Given the description of an element on the screen output the (x, y) to click on. 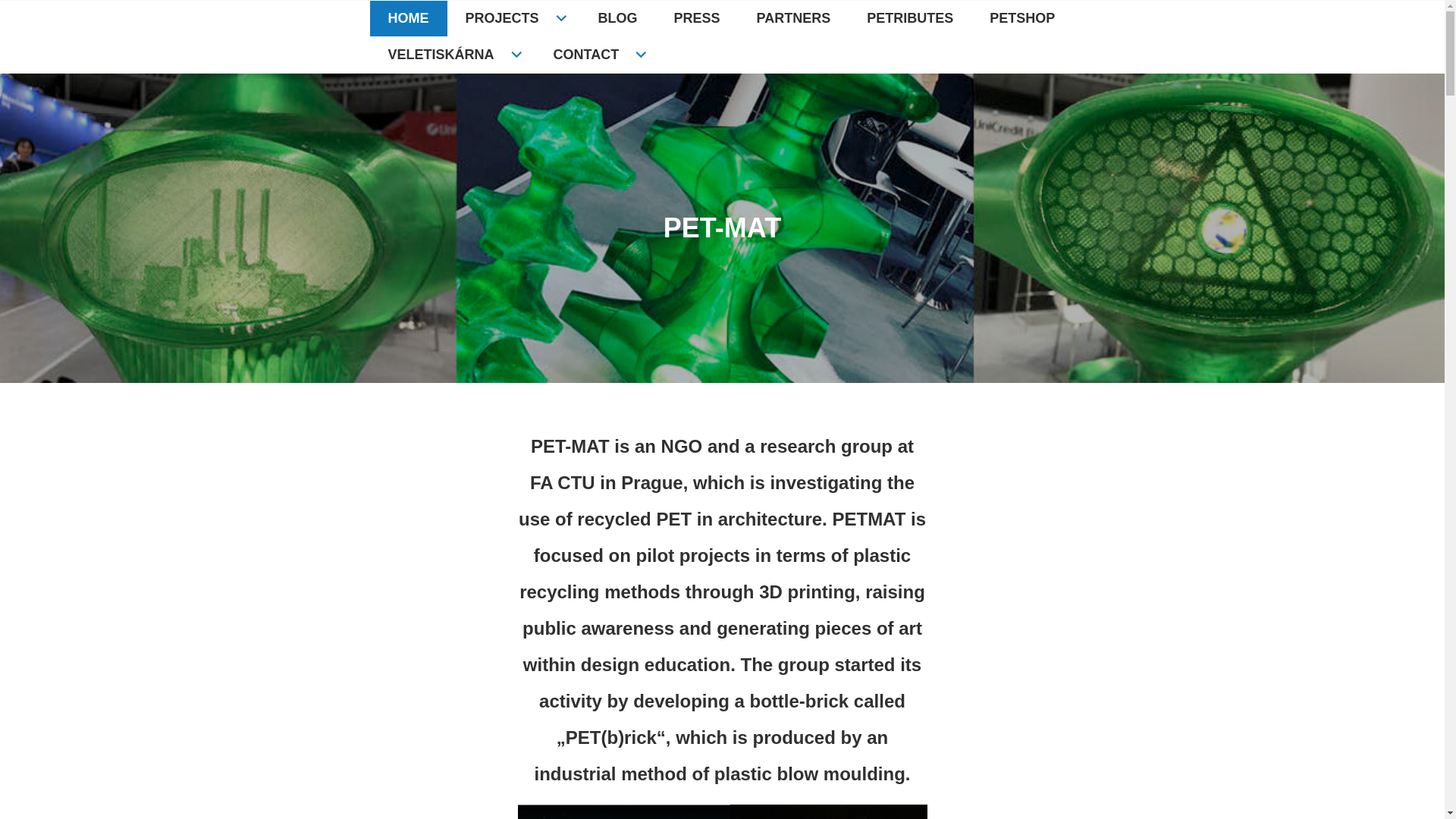
PROJECTS (512, 18)
HOME (407, 18)
PRESS (697, 18)
PETMAT (424, 45)
BLOG (617, 18)
